Given the description of an element on the screen output the (x, y) to click on. 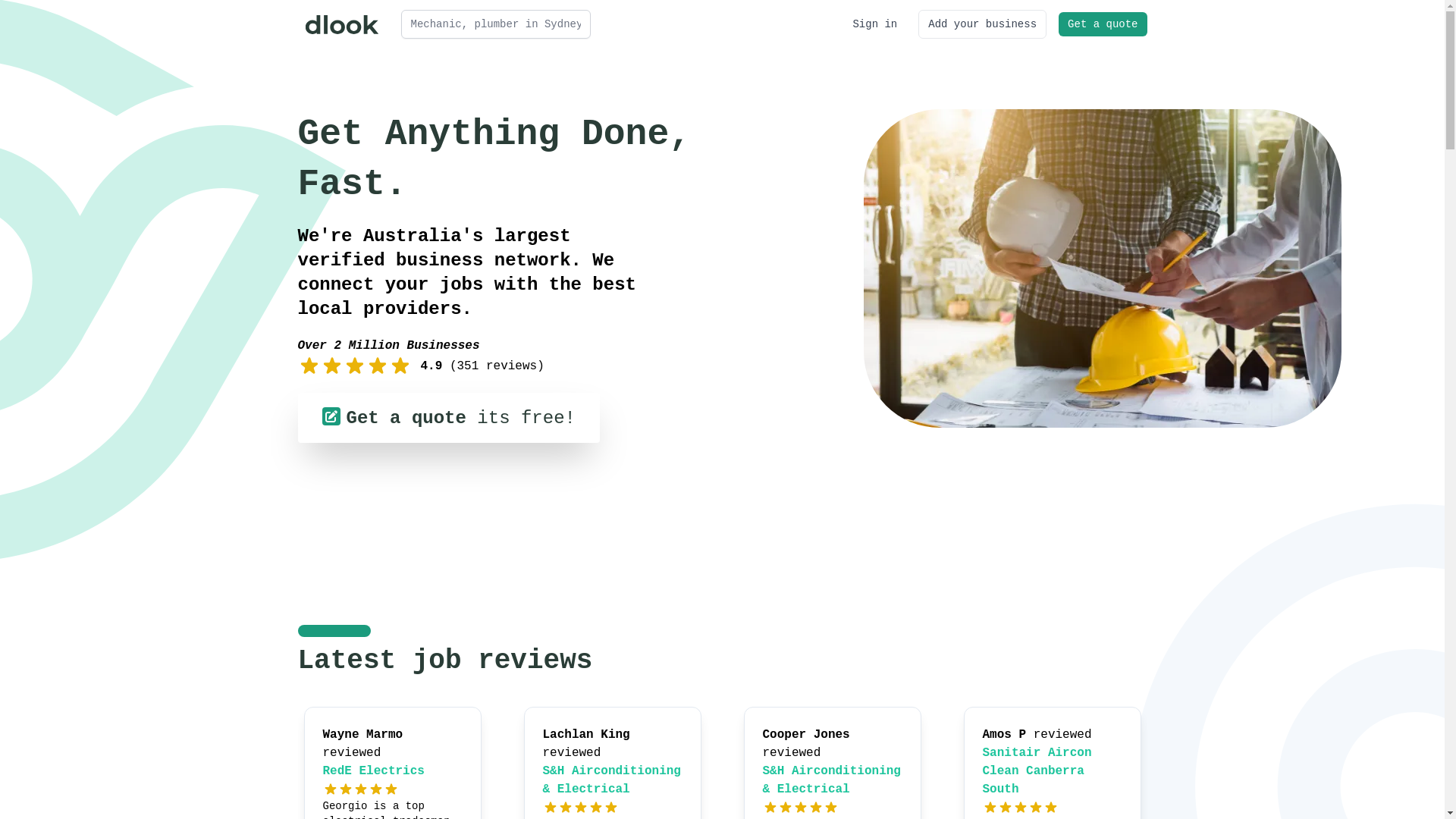
Get a quote its free! Element type: text (448, 417)
Add your business Element type: text (982, 23)
Sign in Element type: text (874, 23)
S&H Airconditioning & Electrical Element type: text (611, 780)
RedE Electrics Element type: text (373, 771)
Sanitair Aircon Clean Canberra South Element type: text (1037, 771)
S&H Airconditioning & Electrical Element type: text (831, 780)
Get a quote Element type: text (1102, 24)
